Given the description of an element on the screen output the (x, y) to click on. 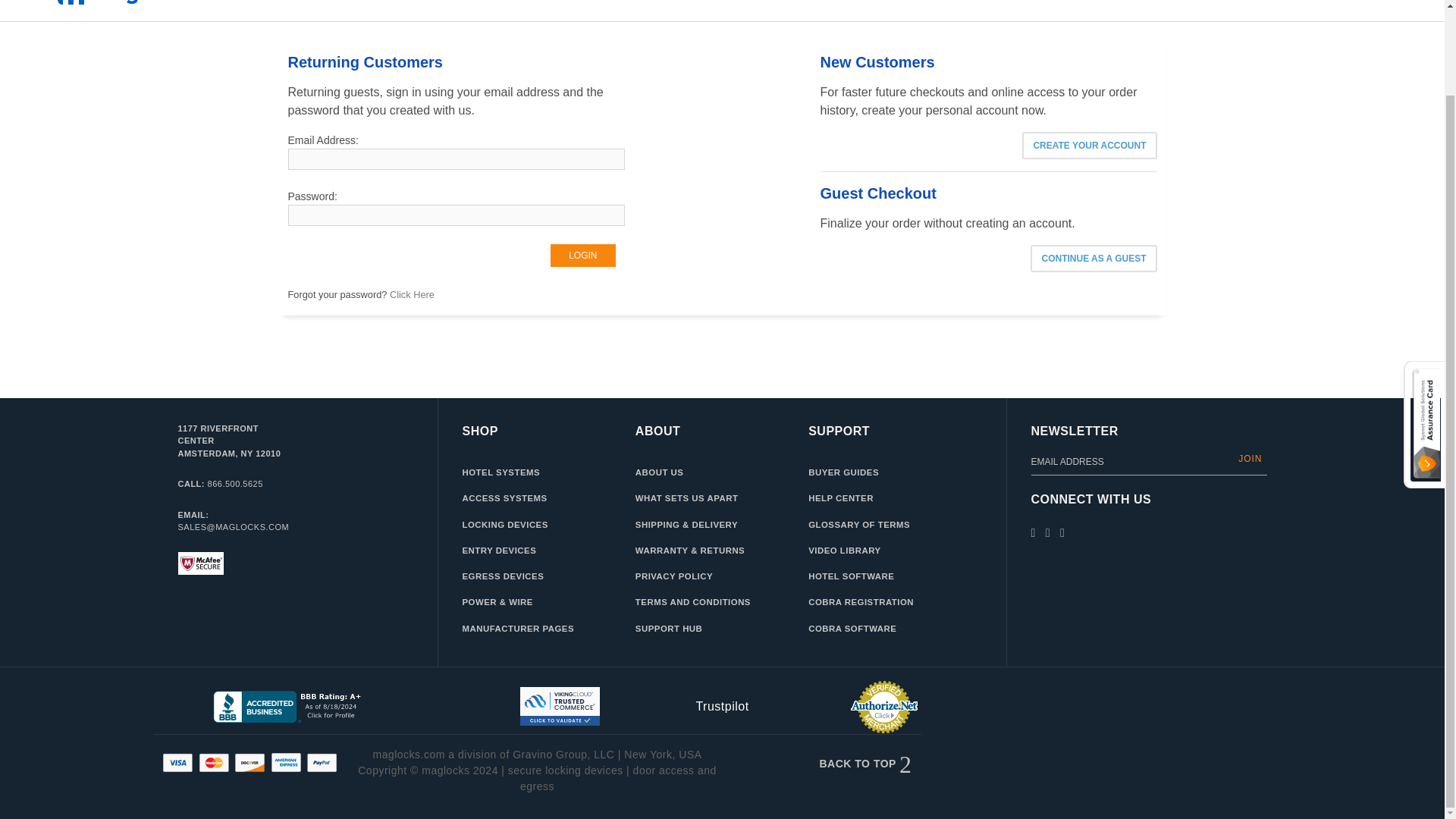
Login (582, 255)
Join (1249, 458)
maglocks (167, 3)
